Given the description of an element on the screen output the (x, y) to click on. 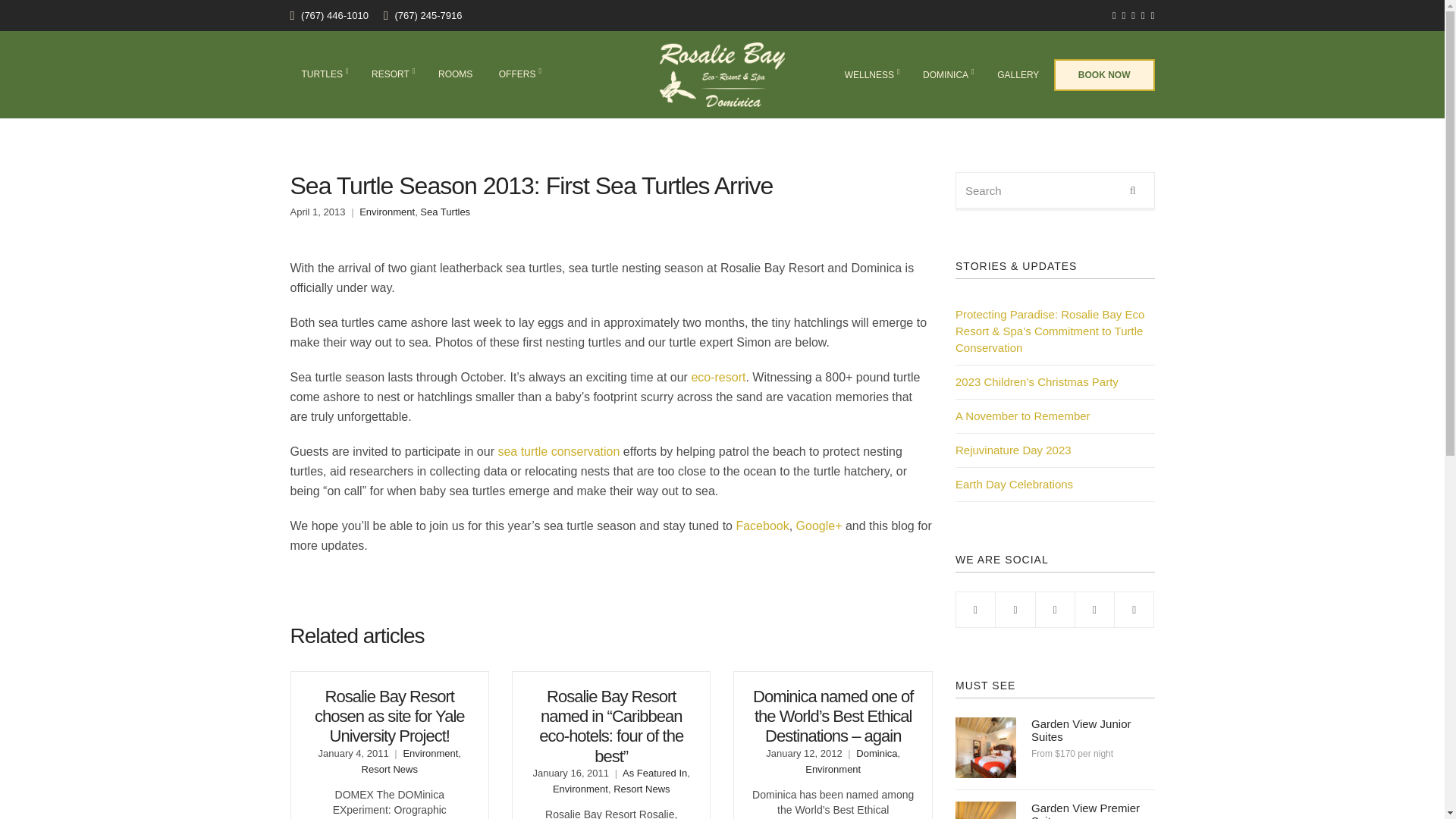
Like Rosalie Bay Resort, Dominica, on Facebook (762, 525)
Environment (386, 211)
ROOMS (454, 74)
TURTLES (323, 74)
Environmental efforts at Rosalie Bay, a Dominica eco-resort (717, 377)
OFFERS (518, 74)
WELLNESS (870, 75)
sea turtle conservation (558, 451)
eco-resort (717, 377)
